Given the description of an element on the screen output the (x, y) to click on. 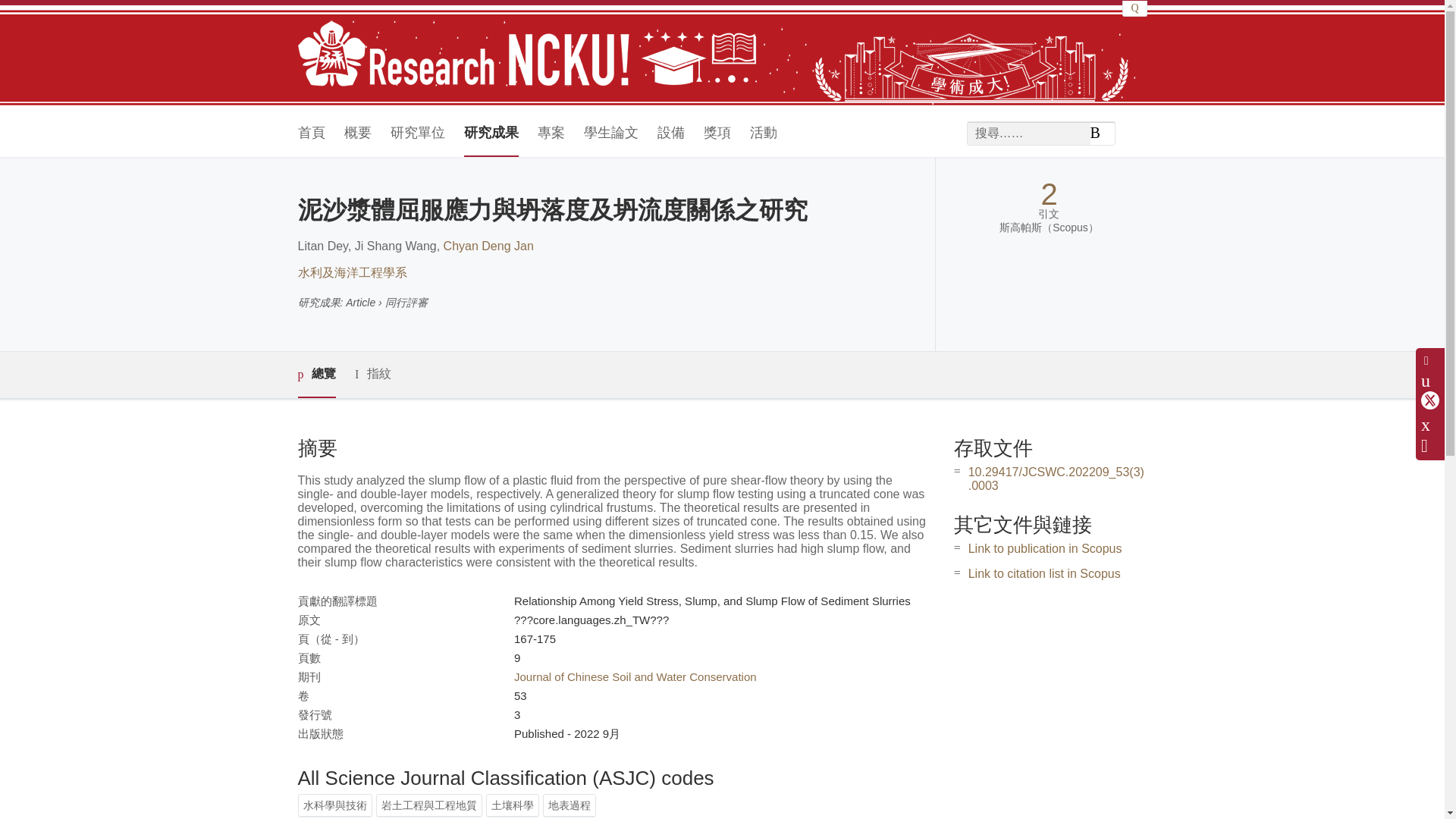
Journal of Chinese Soil and Water Conservation (635, 676)
Chyan Deng Jan (489, 245)
Link to publication in Scopus (1045, 548)
Link to citation list in Scopus (1044, 573)
